Given the description of an element on the screen output the (x, y) to click on. 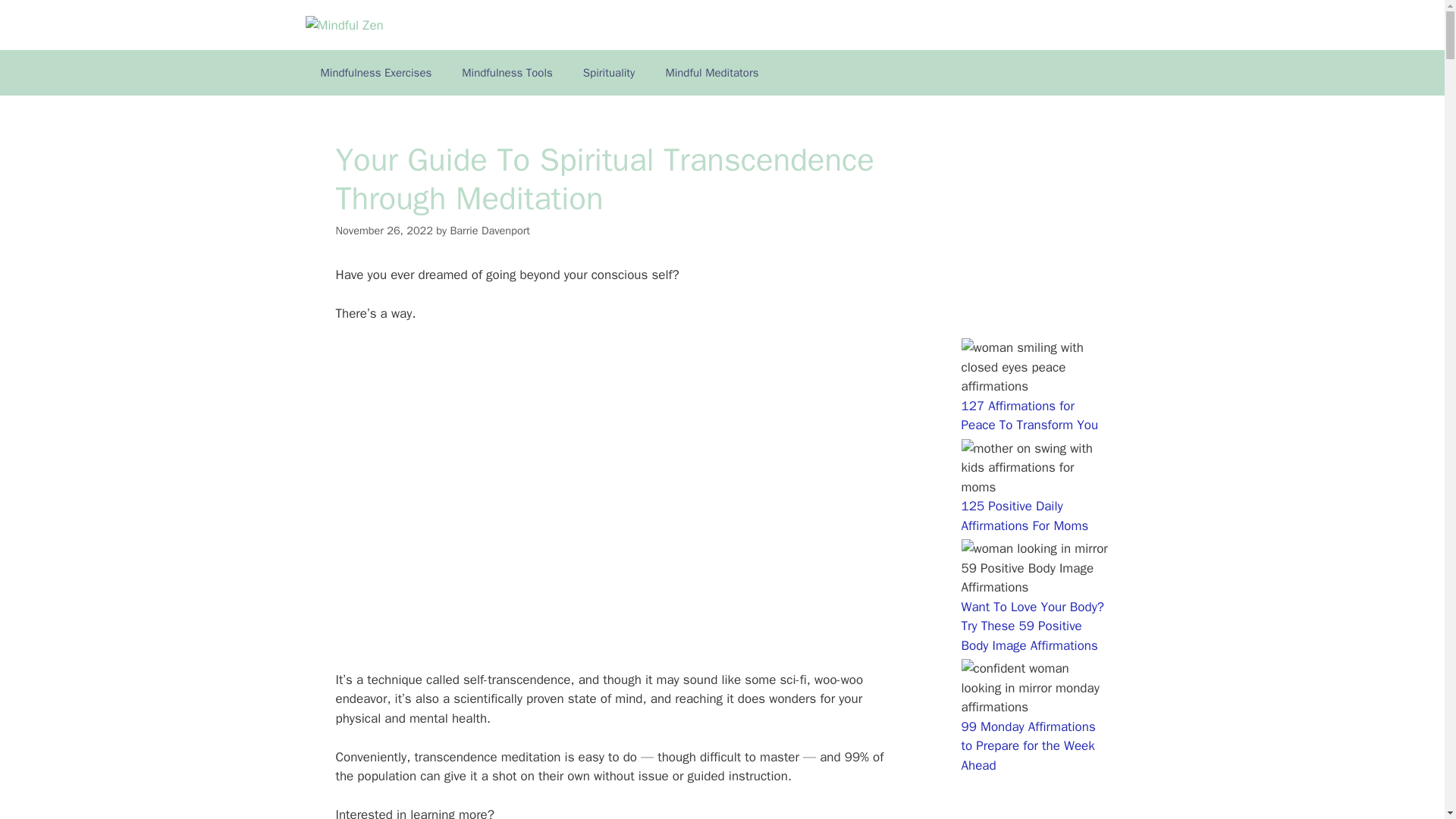
View all posts by Barrie Davenport (489, 230)
Mindful Meditators (711, 72)
Spirituality (608, 72)
Mindfulness Exercises (375, 72)
Barrie Davenport (489, 230)
Mindfulness Tools (506, 72)
